Given the description of an element on the screen output the (x, y) to click on. 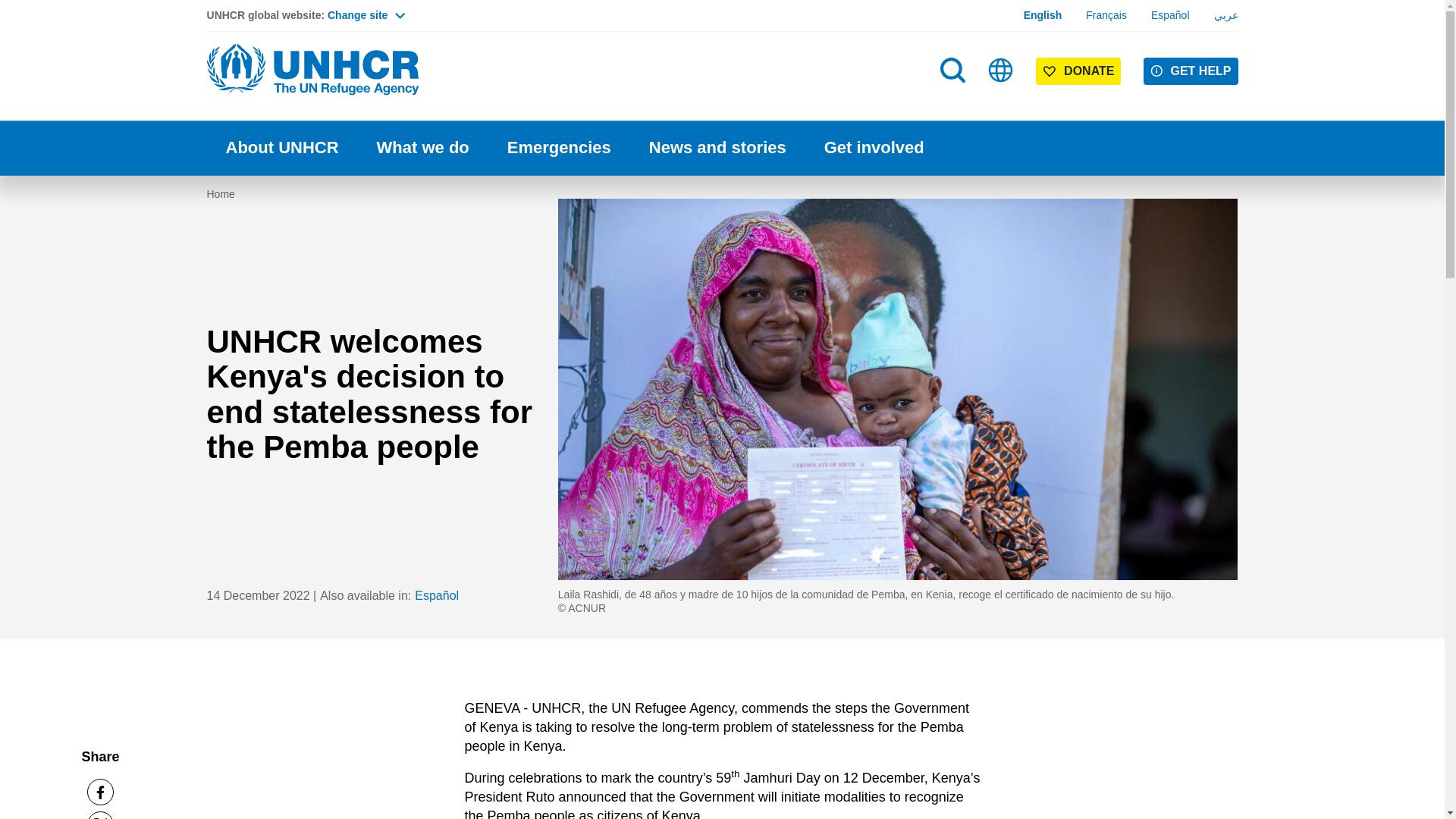
Change site (365, 15)
GET HELP (1189, 71)
Home (312, 69)
English (1042, 15)
Search (952, 69)
Search (954, 99)
Skip to main content (721, 1)
Sites (1000, 69)
About UNHCR (281, 148)
DONATE (1078, 71)
